Given the description of an element on the screen output the (x, y) to click on. 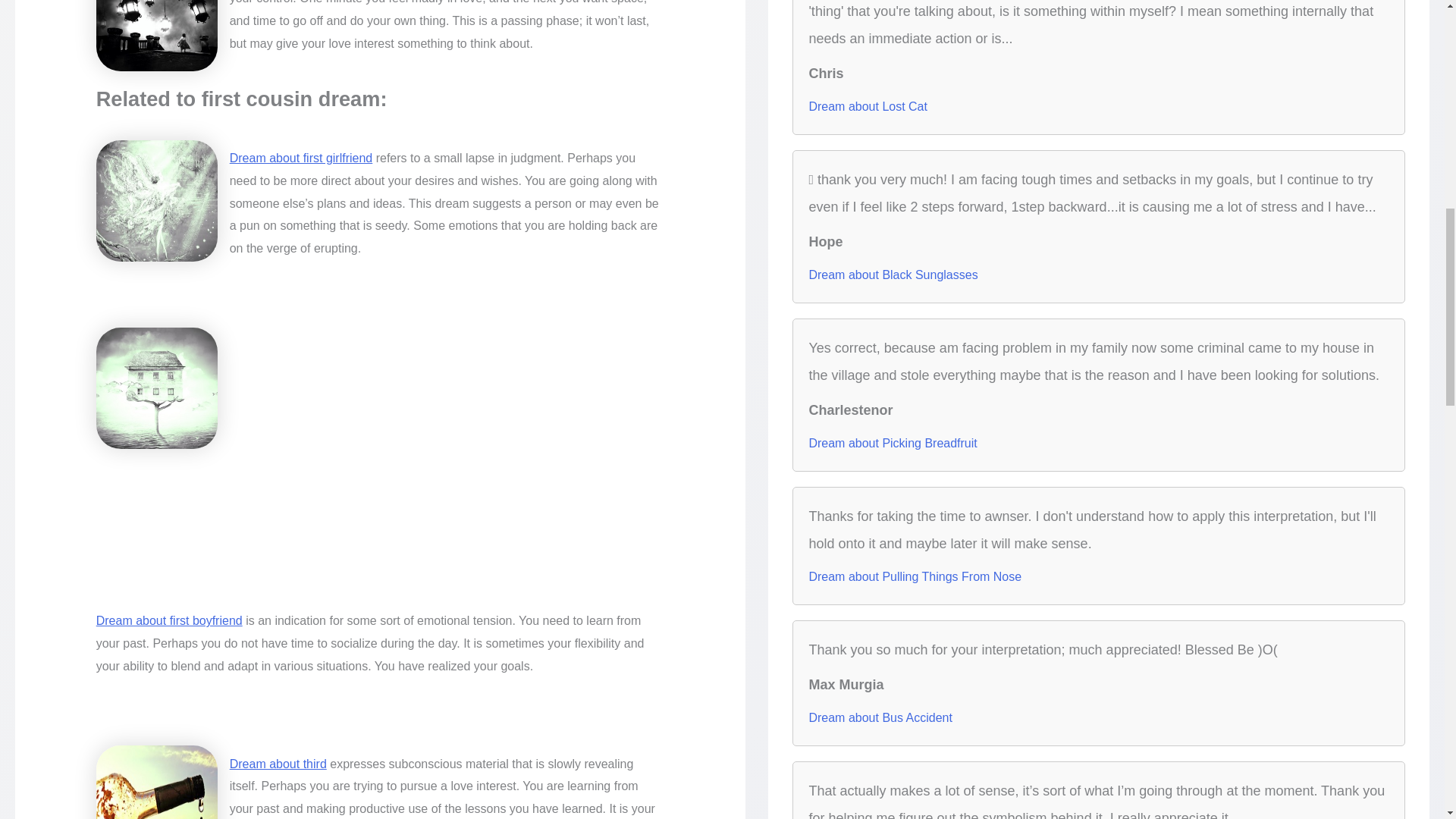
Dream about Lost Cat (867, 106)
Dream about first girlfriend (301, 157)
Dream about third (278, 763)
Dream about Pulling Things From Nose (915, 576)
Dream about first boyfriend (169, 620)
Dream about Picking Breadfruit (892, 443)
Dream about Black Sunglasses (892, 274)
Dream about Bus Accident (880, 717)
Advertisement (380, 532)
